Given the description of an element on the screen output the (x, y) to click on. 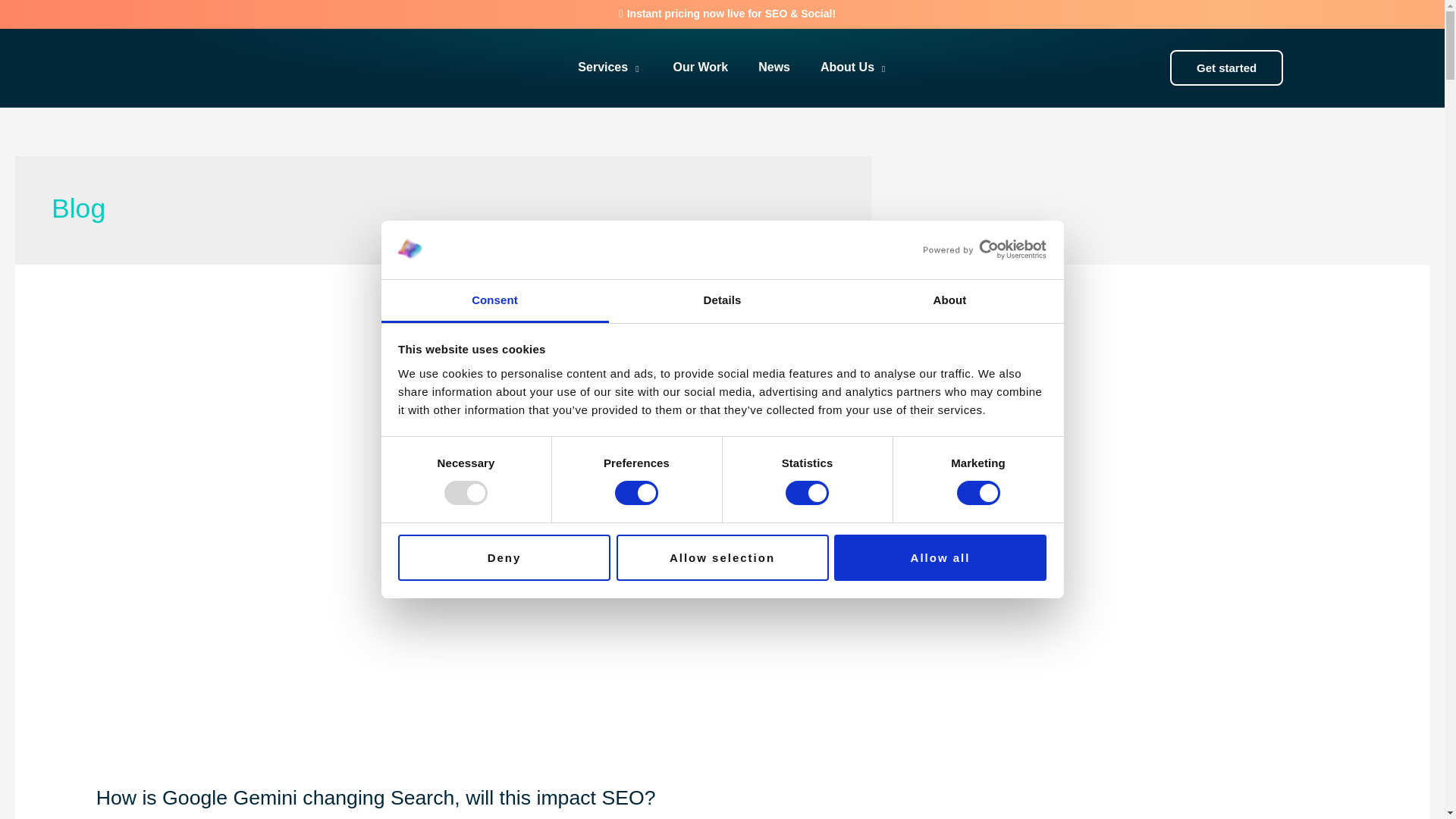
Details (721, 301)
Consent (494, 301)
About (948, 301)
